Given the description of an element on the screen output the (x, y) to click on. 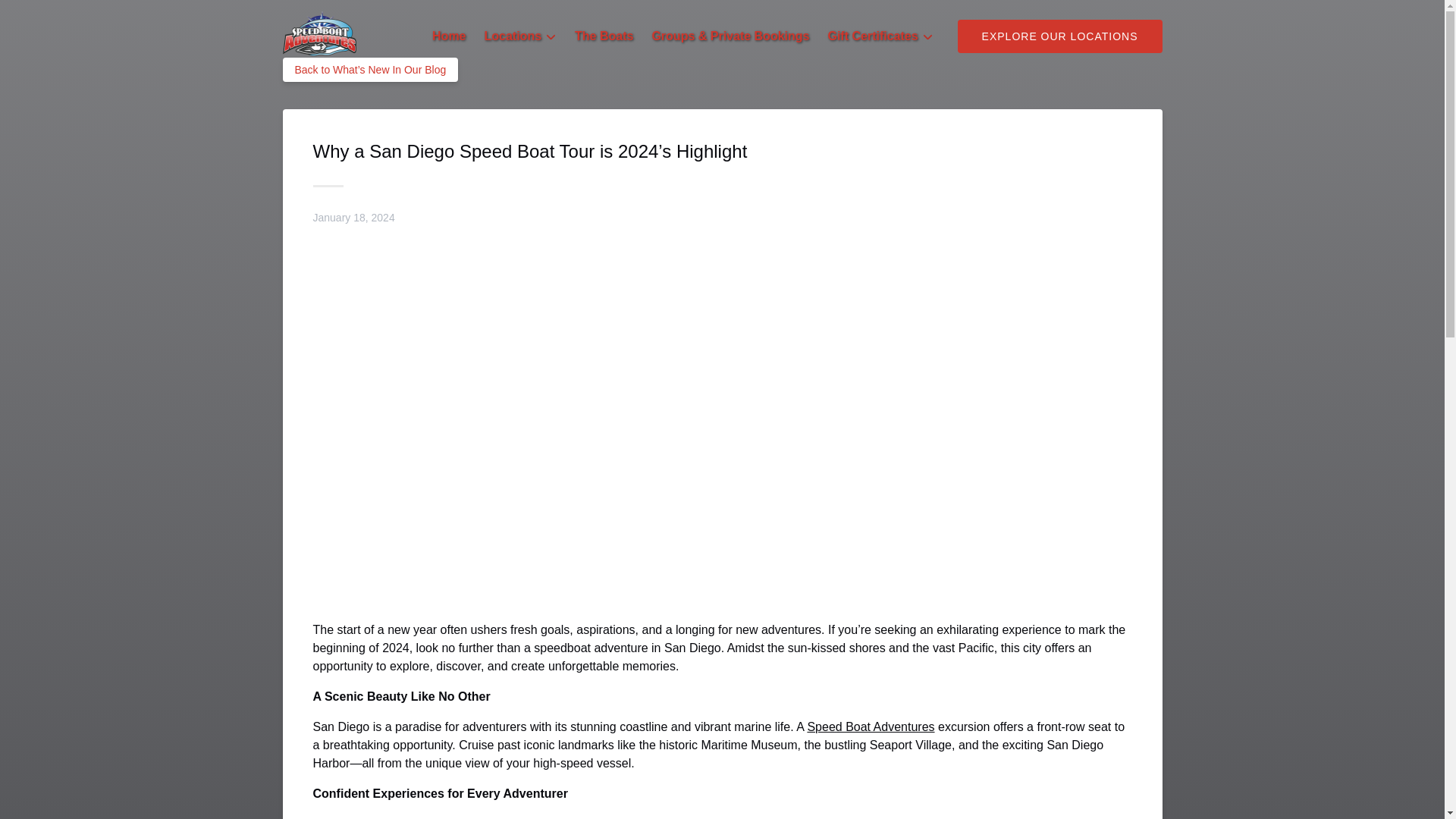
Open Locations Menu (523, 32)
Skip to content (47, 16)
EXPLORE OUR LOCATIONS (1059, 36)
Skip to primary navigation (77, 16)
Speed Boat Adventures (870, 726)
The Boats (604, 35)
Locations (520, 35)
Open Gift Certificates Menu (883, 32)
Gift Certificates (880, 35)
Home (448, 35)
Skip to footer (42, 16)
